Given the description of an element on the screen output the (x, y) to click on. 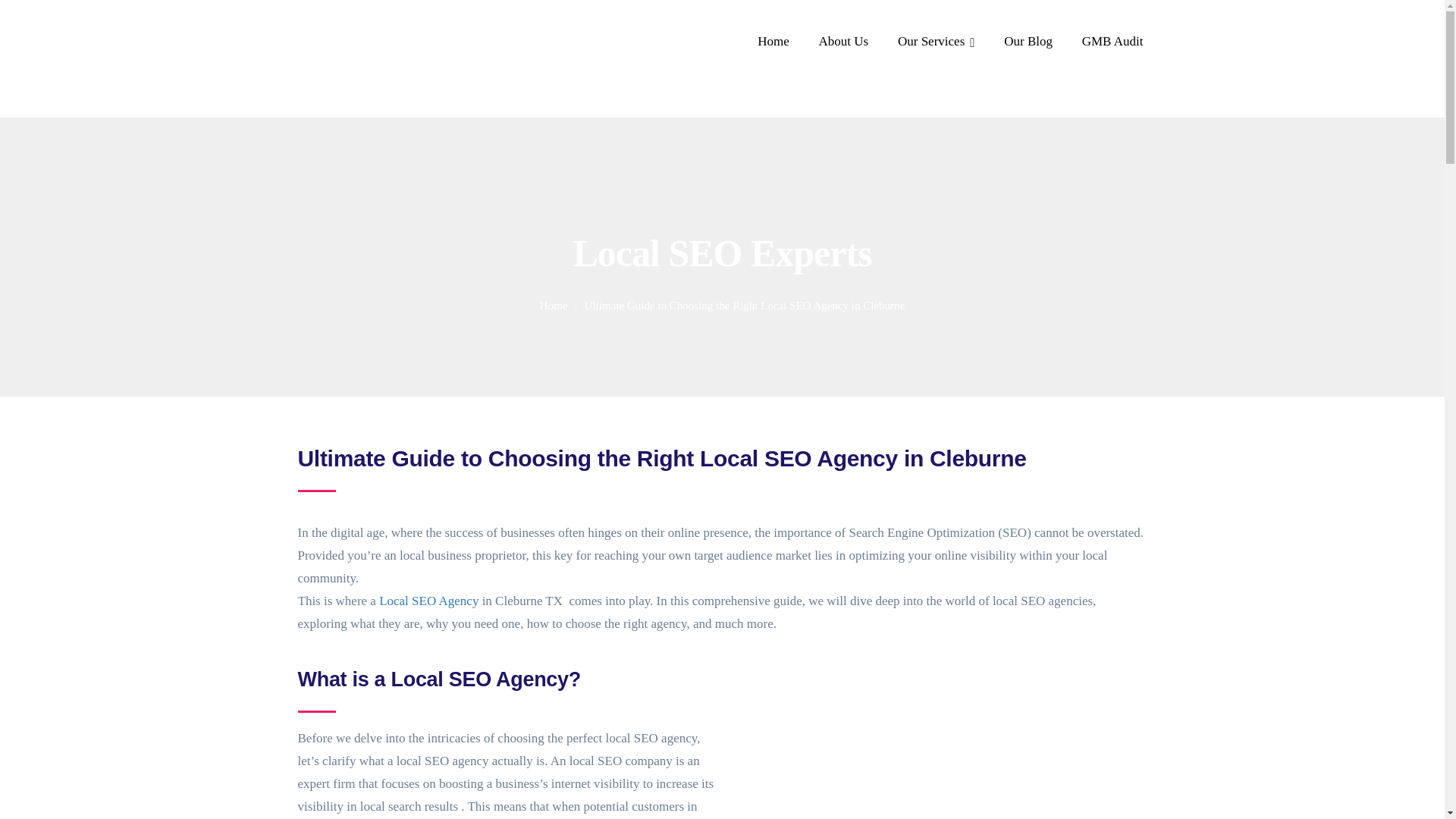
Our Services (936, 42)
GMB Audit (1111, 42)
Home (553, 305)
Local SEO Agency (428, 600)
